Given the description of an element on the screen output the (x, y) to click on. 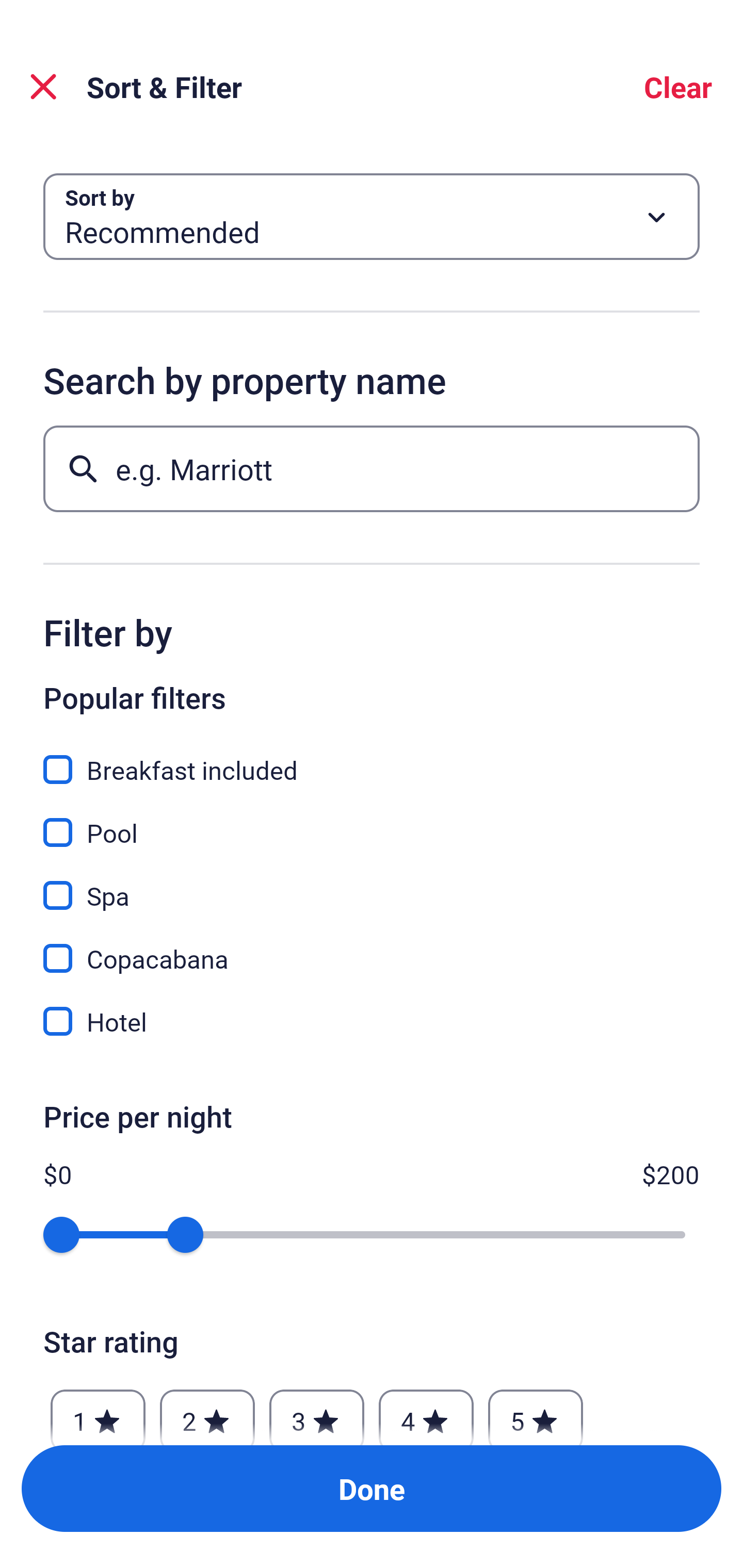
Close Sort and Filter (43, 86)
Clear (677, 86)
Sort by Button Recommended (371, 217)
e.g. Marriott Button (371, 468)
Breakfast included, Breakfast included (371, 757)
Pool, Pool (371, 821)
Spa, Spa (371, 883)
Copacabana, Copacabana (371, 946)
Hotel, Hotel (371, 1021)
1 (97, 1411)
2 (206, 1411)
3 (316, 1411)
4 (426, 1411)
5 (535, 1411)
Apply and close Sort and Filter Done (371, 1488)
